Given the description of an element on the screen output the (x, y) to click on. 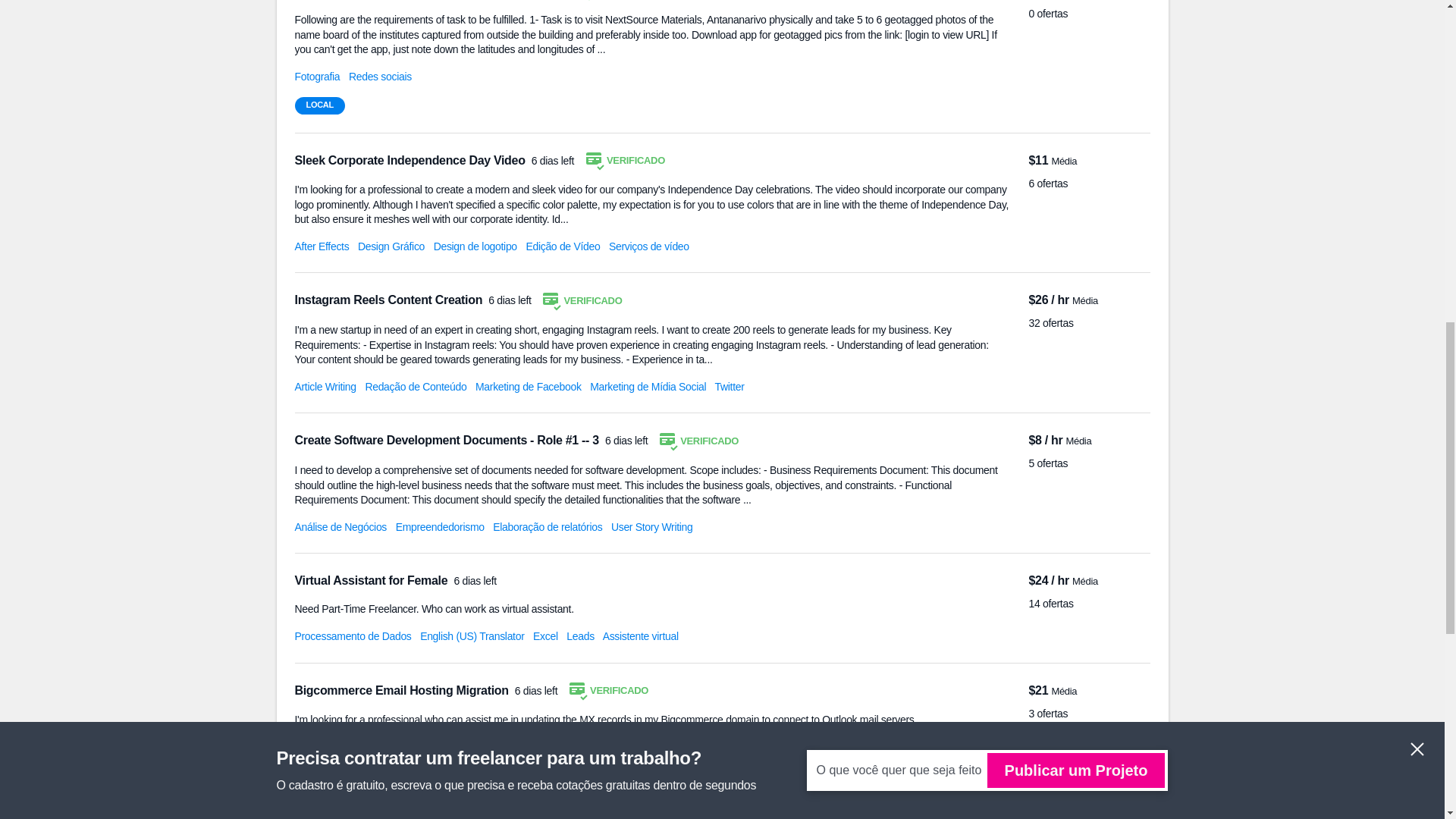
Instagram Reels Content Creation (389, 299)
Sleek Corporate Independence Day Video (410, 160)
Redes sociais (380, 76)
Marketing de Facebook (528, 386)
Fotografia (316, 76)
Design de logotipo (474, 246)
After Effects (321, 246)
Article Writing (324, 386)
